Given the description of an element on the screen output the (x, y) to click on. 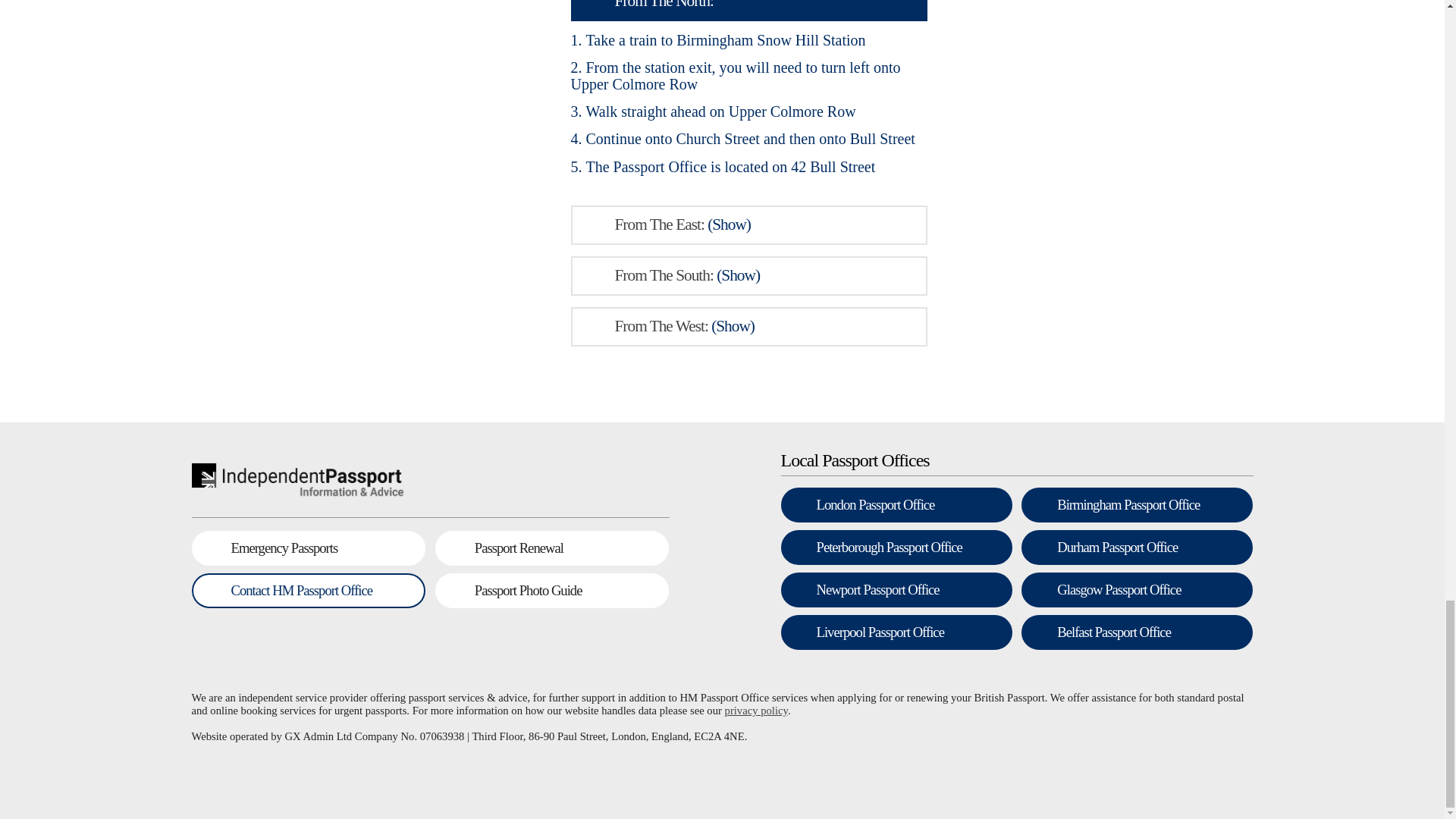
Passport Office Peterborough (895, 547)
Passport Office Birmingham (1137, 504)
Passport Office London (895, 504)
Passport Office Glawgow (1137, 589)
privacy policy (756, 710)
Passport Office Liverpool (895, 632)
Passport Office Durham (1137, 547)
Passport Office Belfast (1137, 632)
Passport Renewal (552, 547)
Passport Office Newport (895, 589)
